Given the description of an element on the screen output the (x, y) to click on. 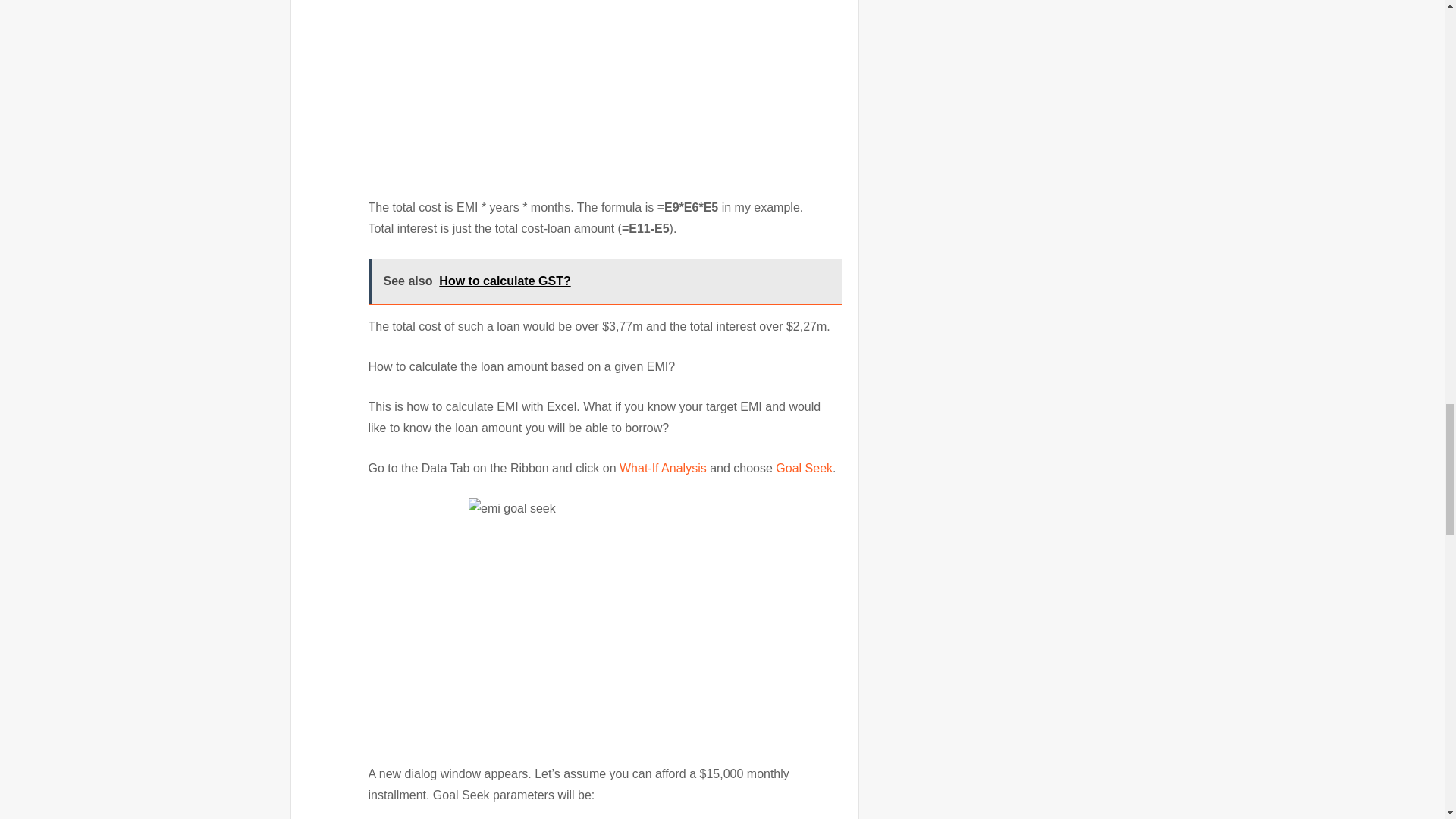
See also  How to calculate GST? (604, 280)
What-If Analysis (663, 468)
Goal Seek (804, 468)
